Given the description of an element on the screen output the (x, y) to click on. 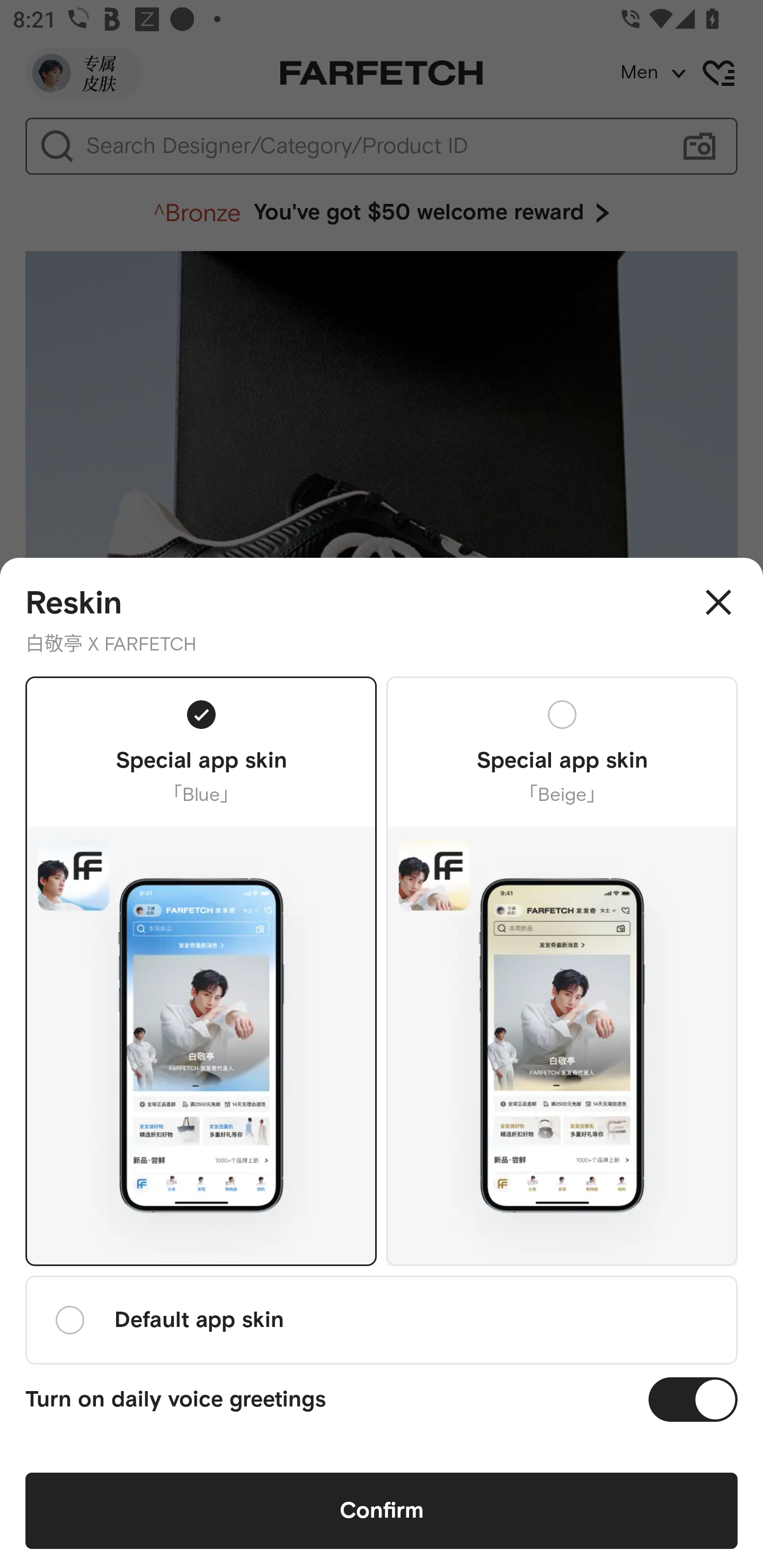
Special app skin 「Blue」 (200, 970)
Special app skin 「Beige」 (561, 970)
Default app skin (381, 1320)
Confirm (381, 1510)
